Given the description of an element on the screen output the (x, y) to click on. 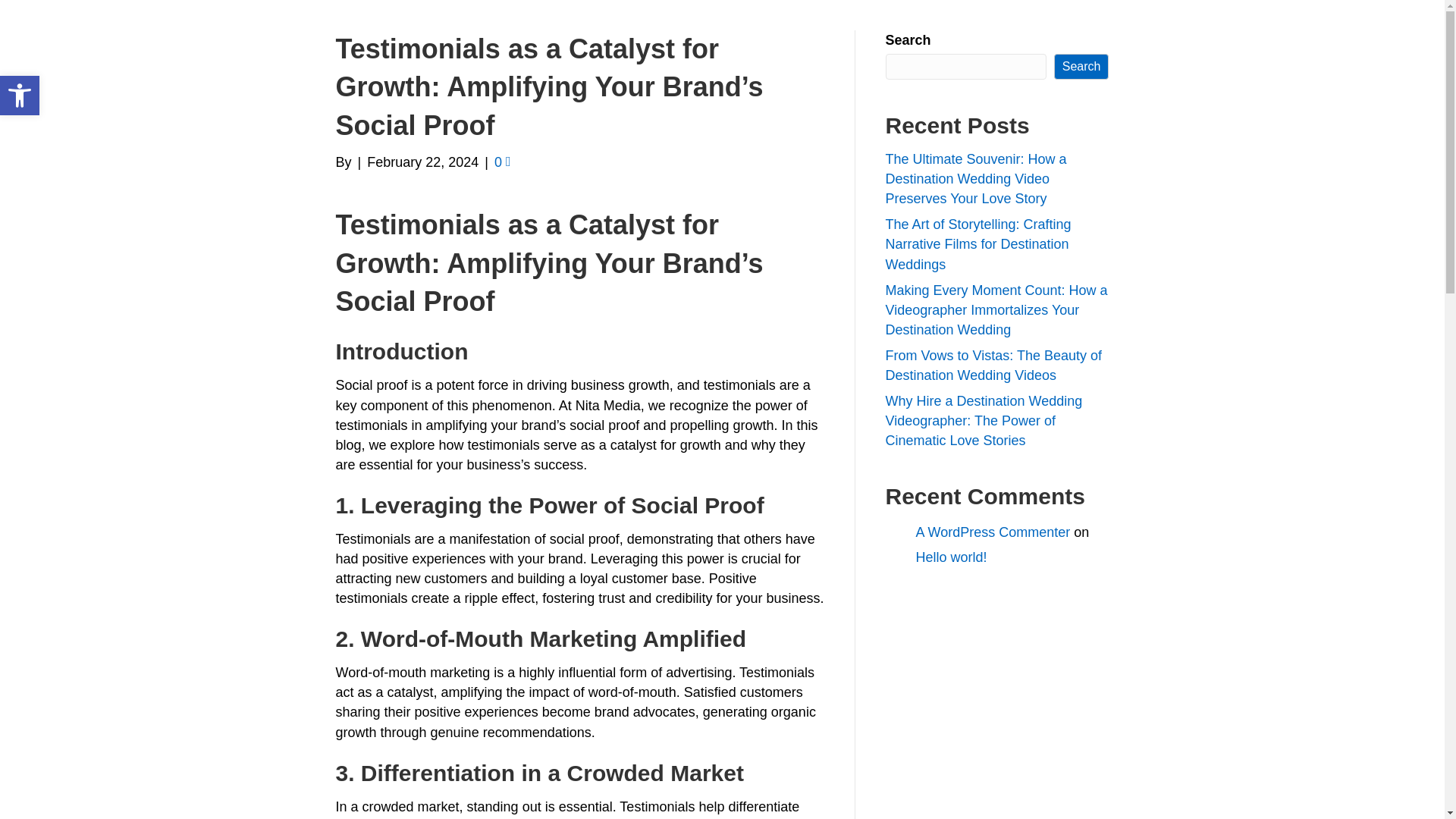
Accessibility Tools (19, 95)
0 (503, 161)
Hello world! (951, 557)
Search (1081, 66)
A WordPress Commenter (992, 531)
